Given the description of an element on the screen output the (x, y) to click on. 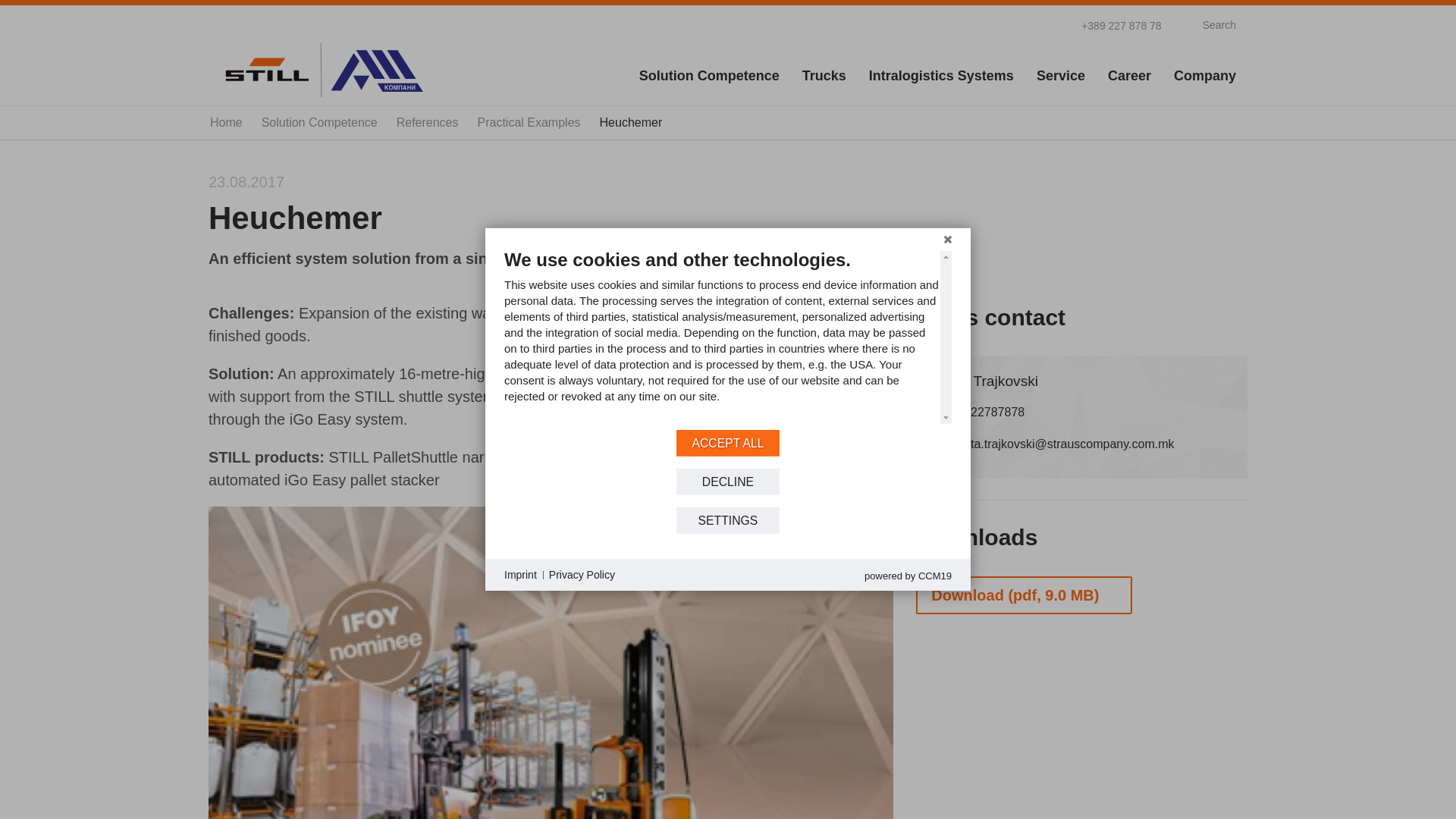
STILL Macedonia (321, 69)
Call hotline (1112, 24)
Close (947, 239)
